Given the description of an element on the screen output the (x, y) to click on. 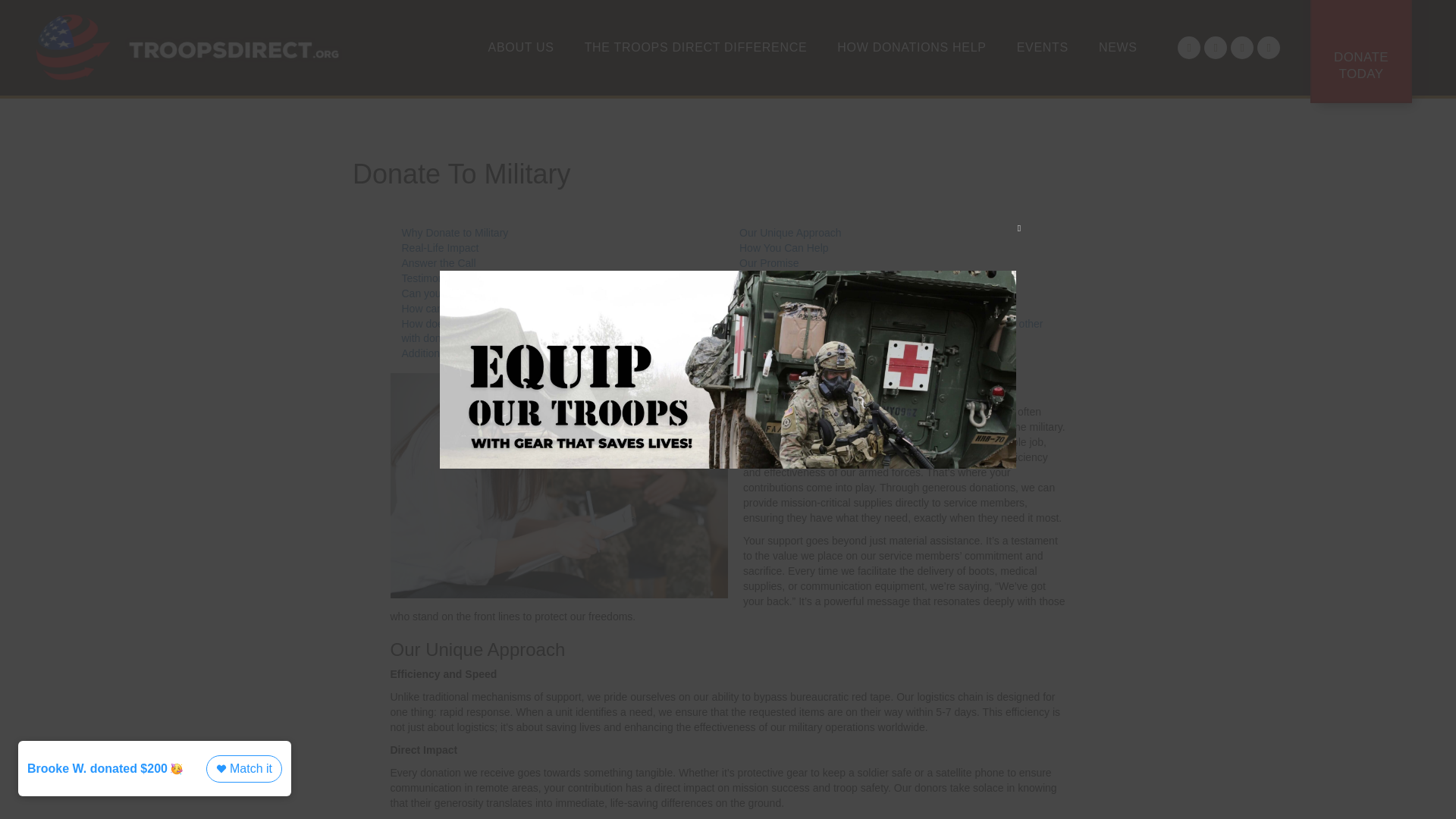
NEWS (1118, 47)
Can you donate money to the military? (492, 293)
Real-Life Impact (440, 247)
Our Promise (769, 263)
ABOUT US (521, 47)
What is the best military charity to donate to? (844, 277)
EVENTS (1042, 47)
Donation Activity Popup (158, 776)
THE TROOPS DIRECT DIFFERENCE (695, 47)
